Given the description of an element on the screen output the (x, y) to click on. 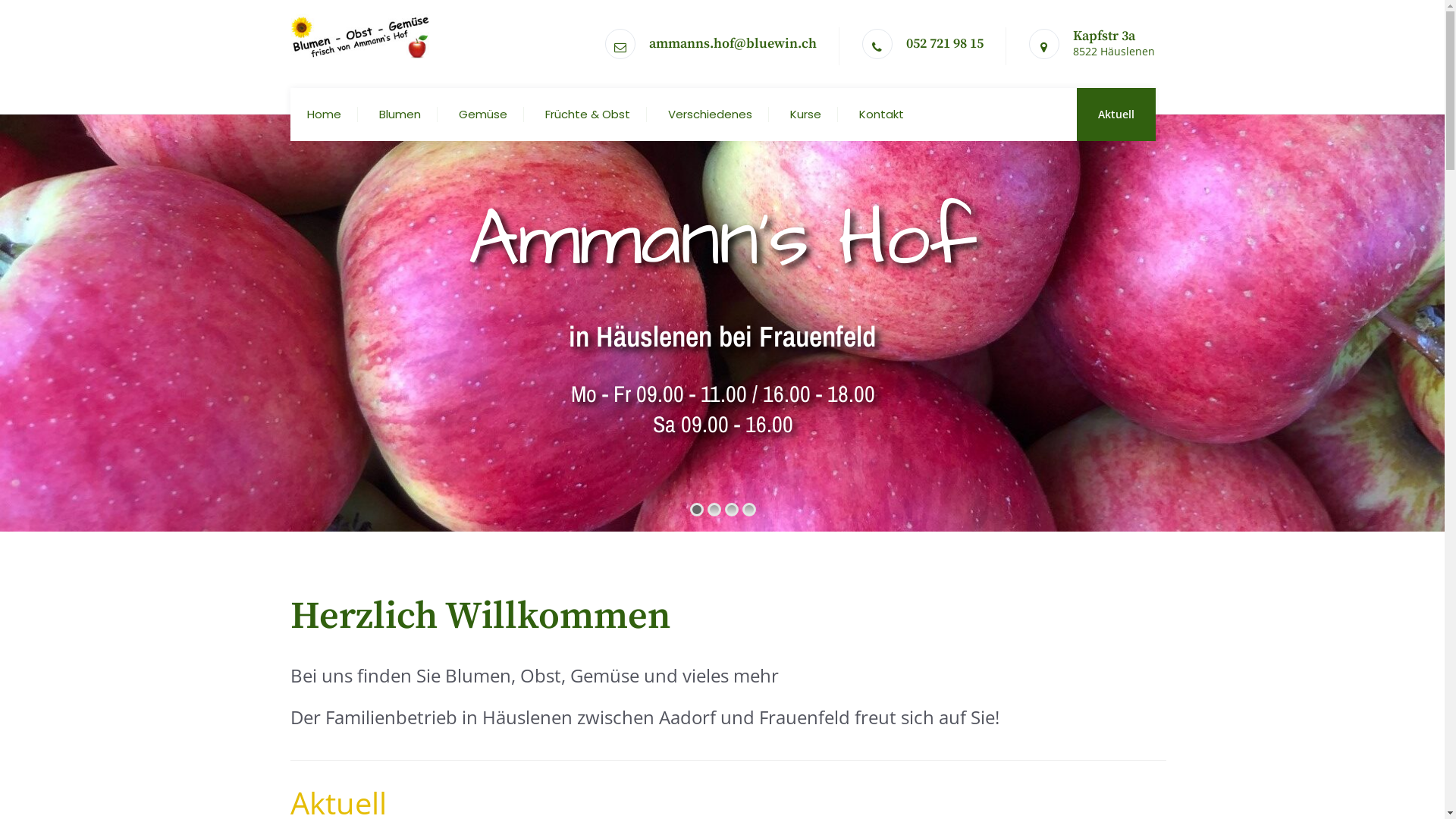
Verschiedenes Element type: text (709, 114)
Aktuell Element type: text (1116, 113)
Kurse Element type: text (805, 114)
Kontakt Element type: text (880, 114)
Kapfstr 3a Element type: text (1103, 35)
Willkommen auf Ammanns Hof Element type: hover (359, 36)
Blumen Element type: text (399, 114)
052 721 98 15 Element type: text (943, 43)
Home Element type: text (323, 114)
ammanns.hof@bluewin.ch Element type: text (732, 43)
